Given the description of an element on the screen output the (x, y) to click on. 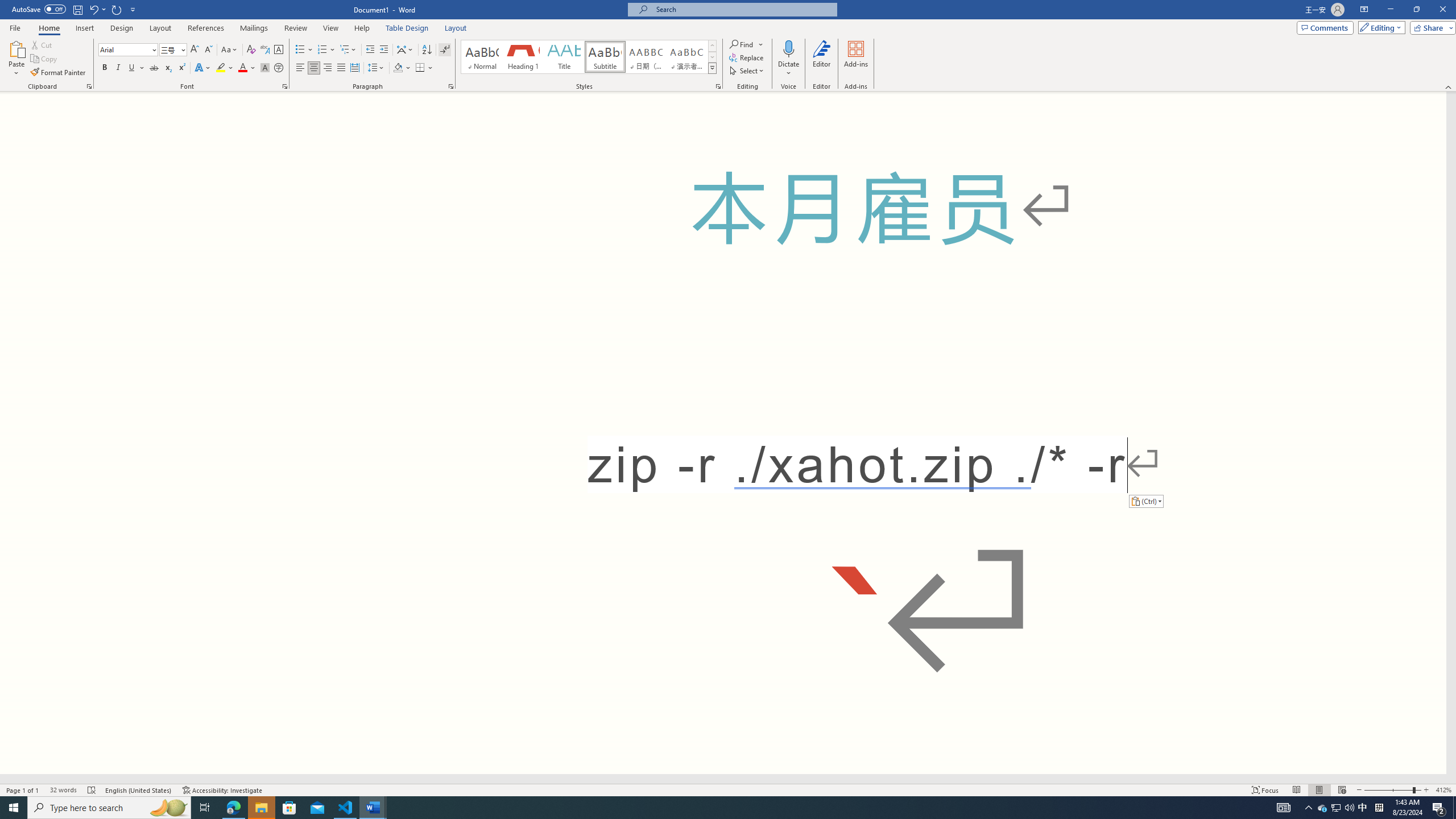
Page 1 content (722, 432)
Action: Paste alternatives (1145, 500)
Page Number Page 1 of 1 (22, 790)
